Given the description of an element on the screen output the (x, y) to click on. 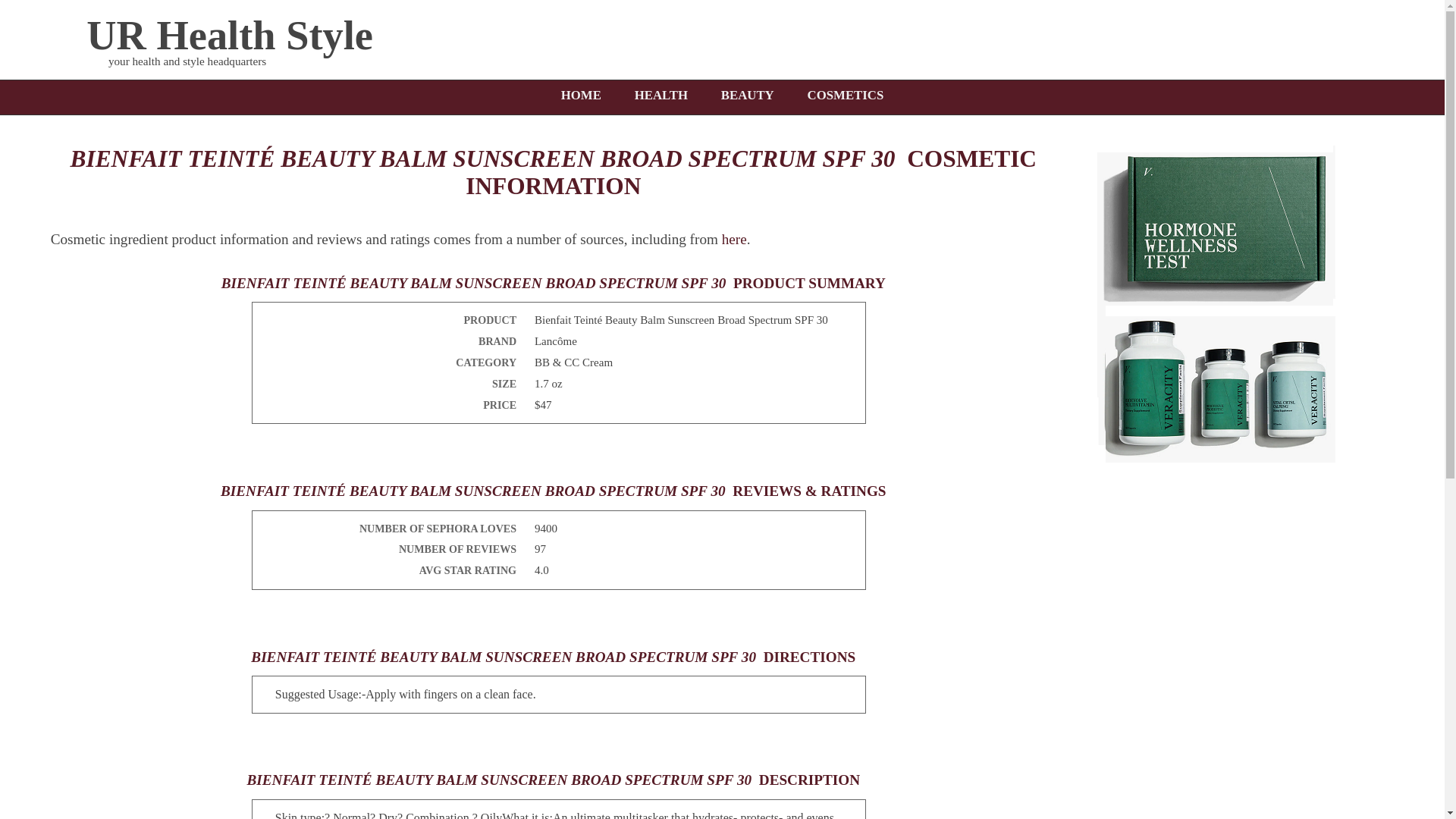
BEAUTY (747, 95)
HEALTH (661, 95)
HOME (580, 95)
here (734, 238)
COSMETICS (845, 95)
